Given the description of an element on the screen output the (x, y) to click on. 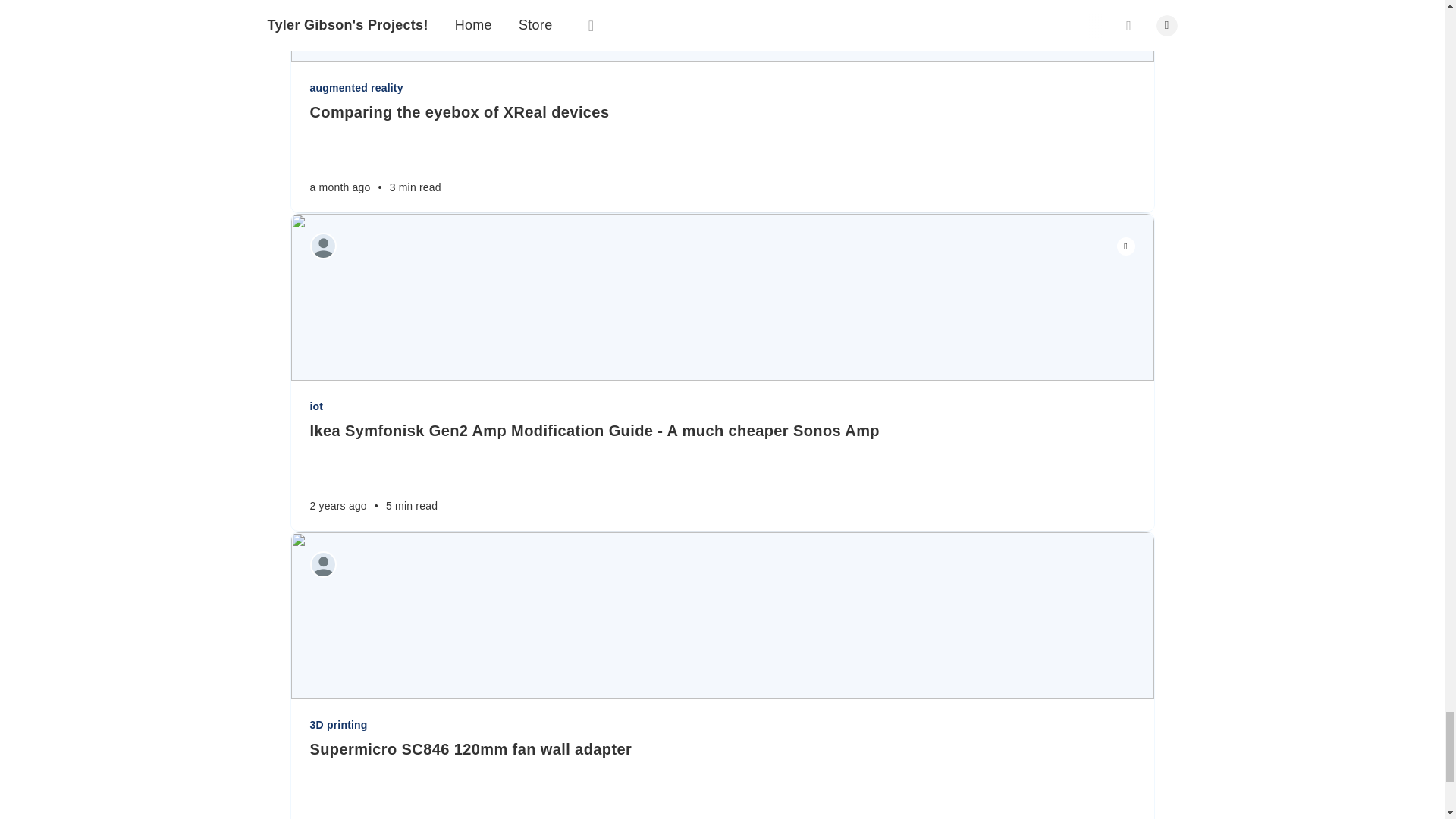
Supermicro SC846 120mm fan wall adapter (721, 749)
Comparing the eyebox of XReal devices (721, 112)
